Given the description of an element on the screen output the (x, y) to click on. 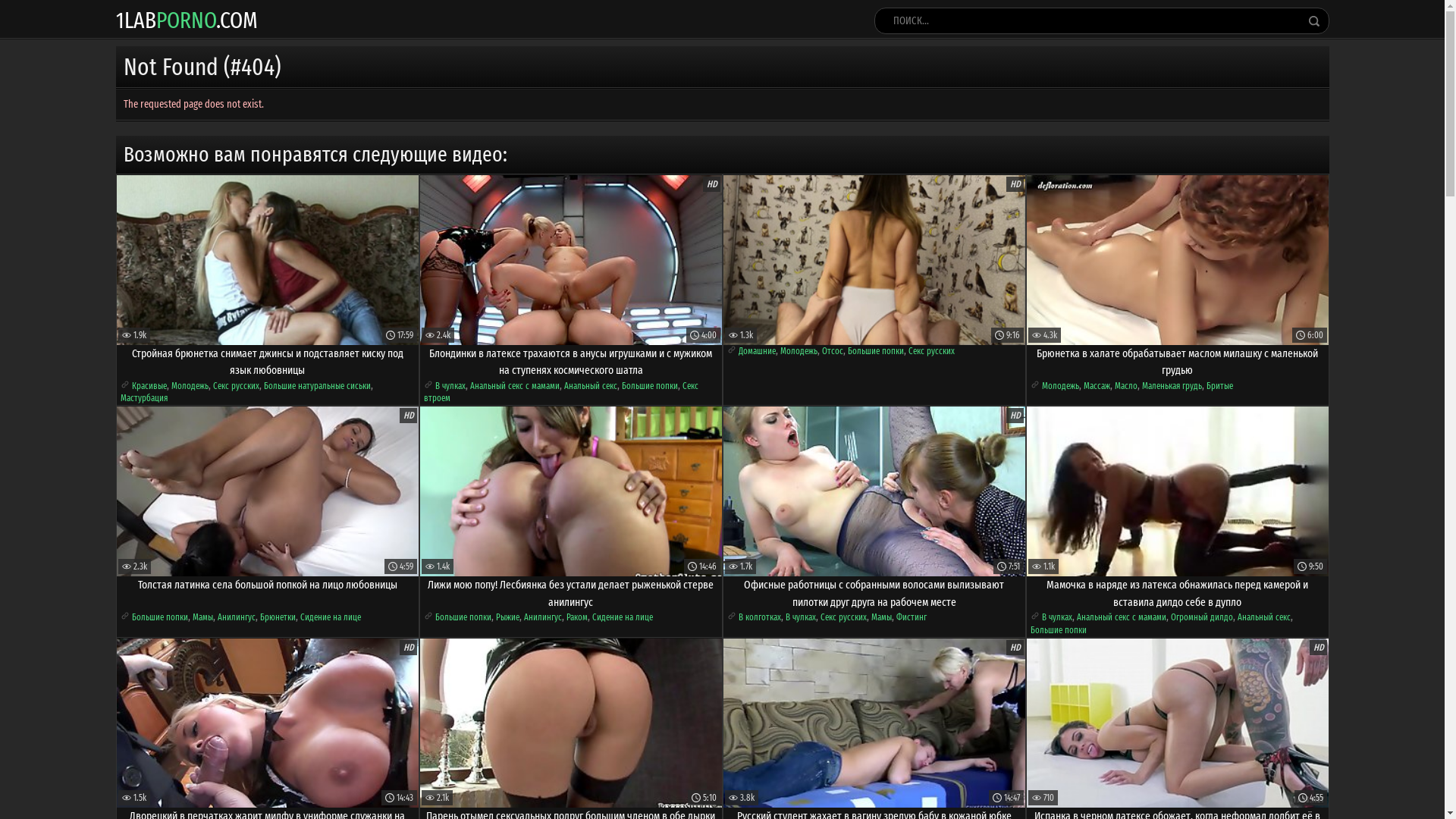
HD
4:59
2.3k Element type: text (267, 490)
14:46
1.4k Element type: text (570, 490)
HD
14:47
3.8k Element type: text (874, 722)
1LABPORNO.COM Element type: text (186, 20)
HD
4:55
710 Element type: text (1177, 722)
HD
7:51
1.7k Element type: text (874, 490)
5:10
2.1k Element type: text (570, 722)
HD
9:16
1.3k Element type: text (874, 259)
17:59
1.9k Element type: text (267, 259)
6:00
4.3k Element type: text (1177, 259)
9:50
1.1k Element type: text (1177, 490)
HD
4:00
2.4k Element type: text (570, 259)
HD
14:43
1.5k Element type: text (267, 722)
